Given the description of an element on the screen output the (x, y) to click on. 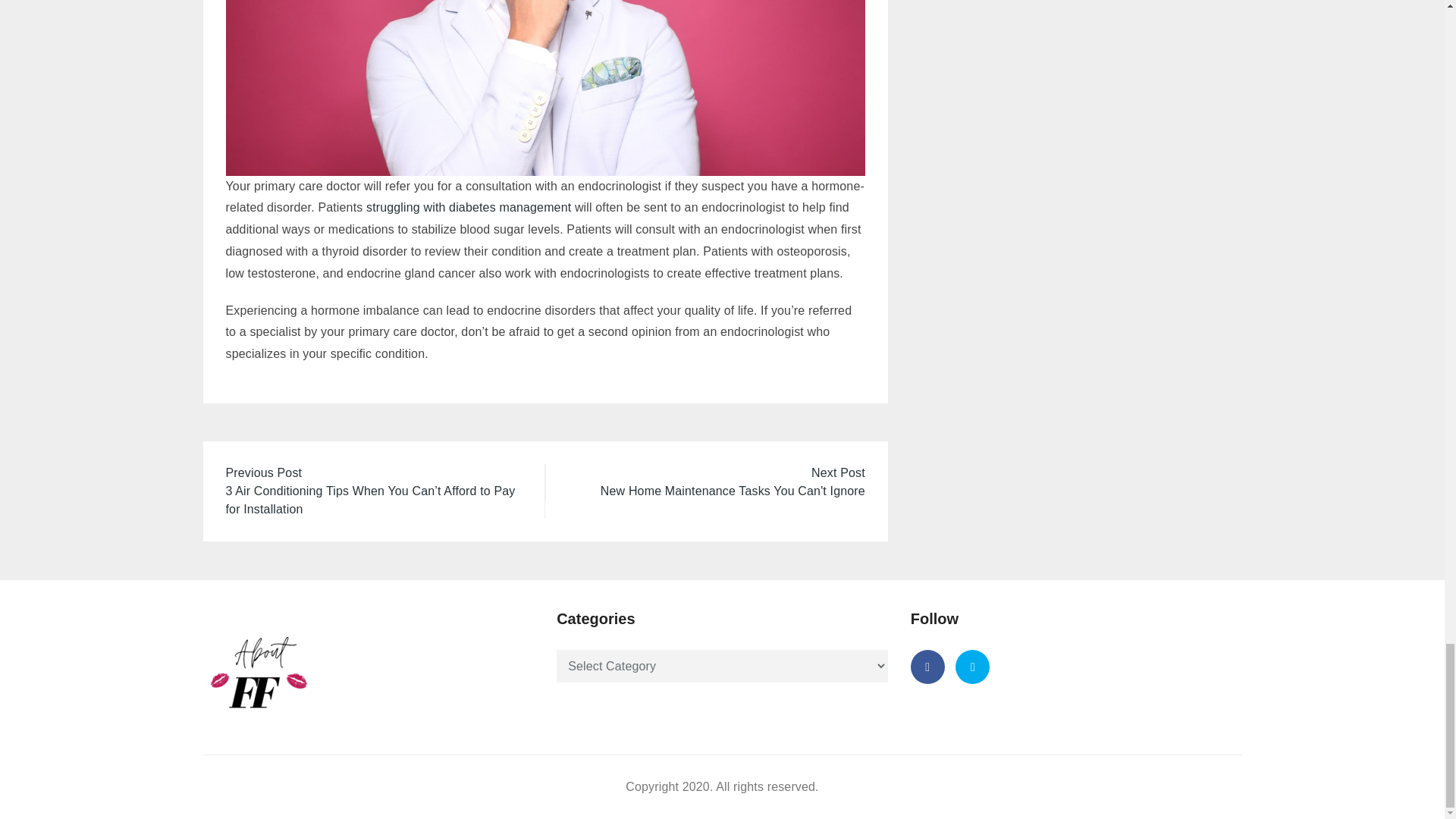
struggling with diabetes management (468, 206)
